Given the description of an element on the screen output the (x, y) to click on. 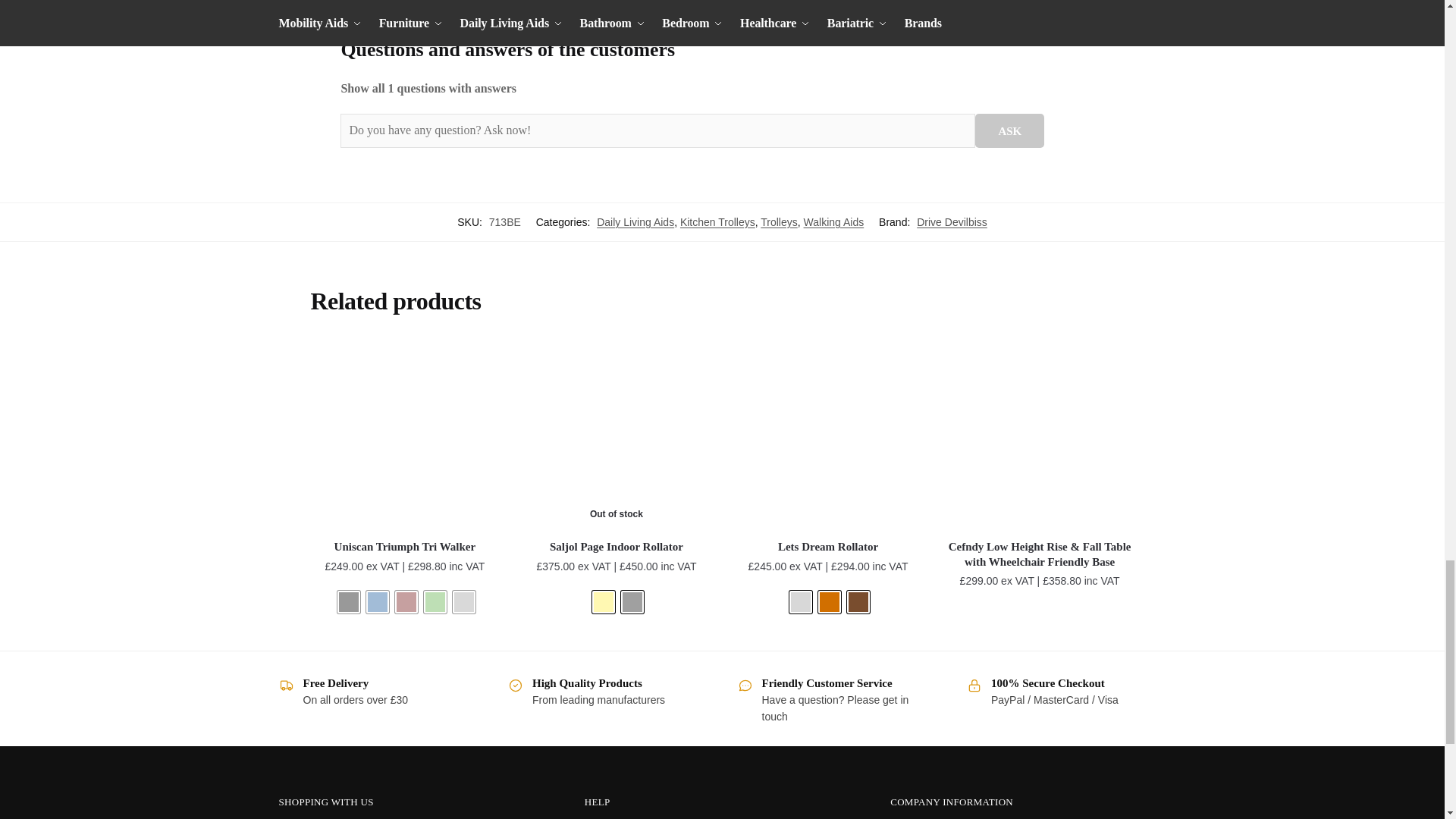
Chrome (800, 601)
Burgundy (405, 601)
Grey (632, 601)
Green (428, 88)
Blue (434, 601)
Uniscan Triumph Tri Walker (377, 601)
Ask (404, 434)
Black (1009, 130)
Grey (348, 601)
Saljol Page Indoor Rollator (464, 601)
Cream (615, 434)
Lets Dream Rollator (603, 601)
Ask your question (828, 434)
